Given the description of an element on the screen output the (x, y) to click on. 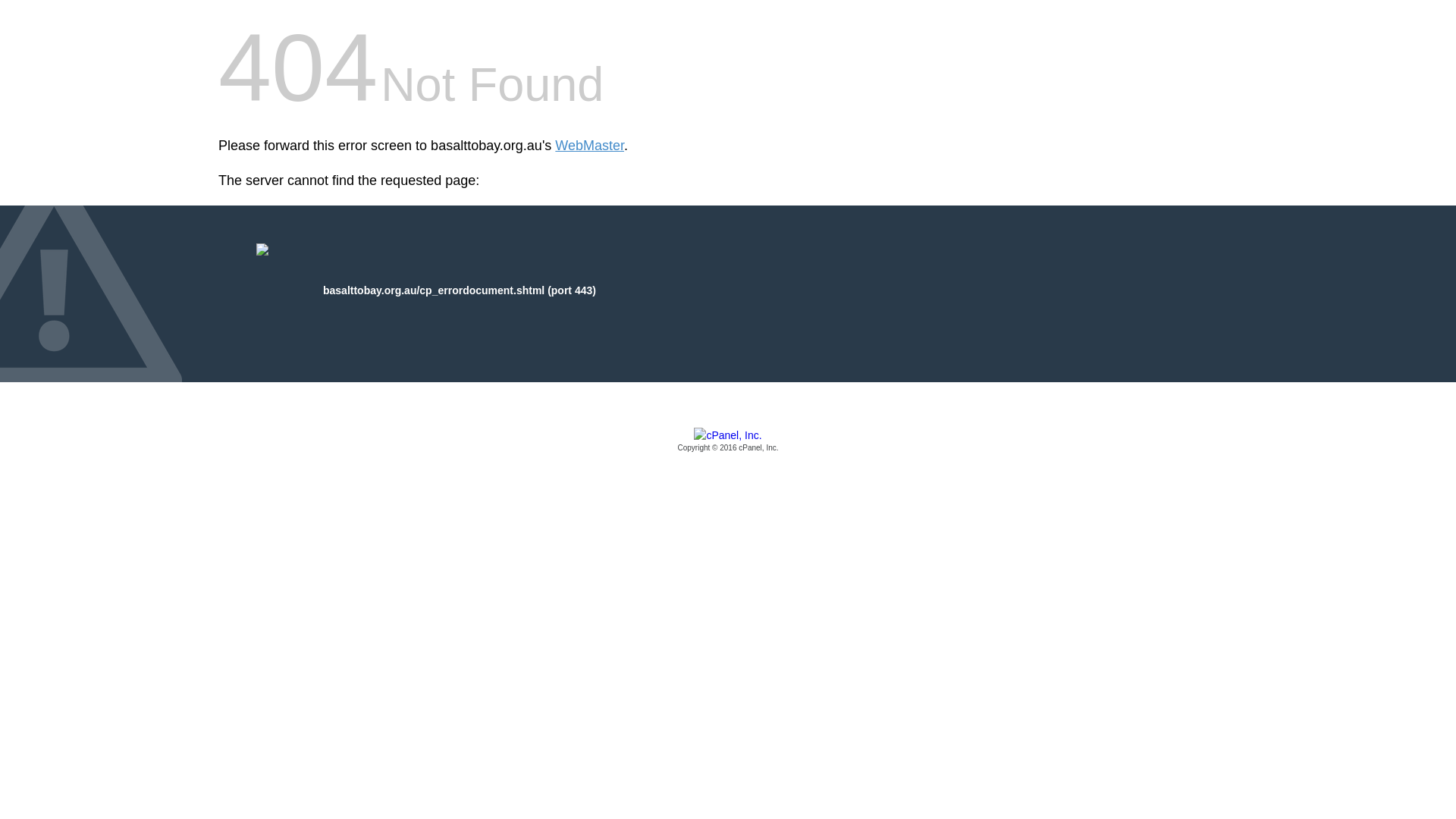
WebMaster Element type: text (589, 145)
